Given the description of an element on the screen output the (x, y) to click on. 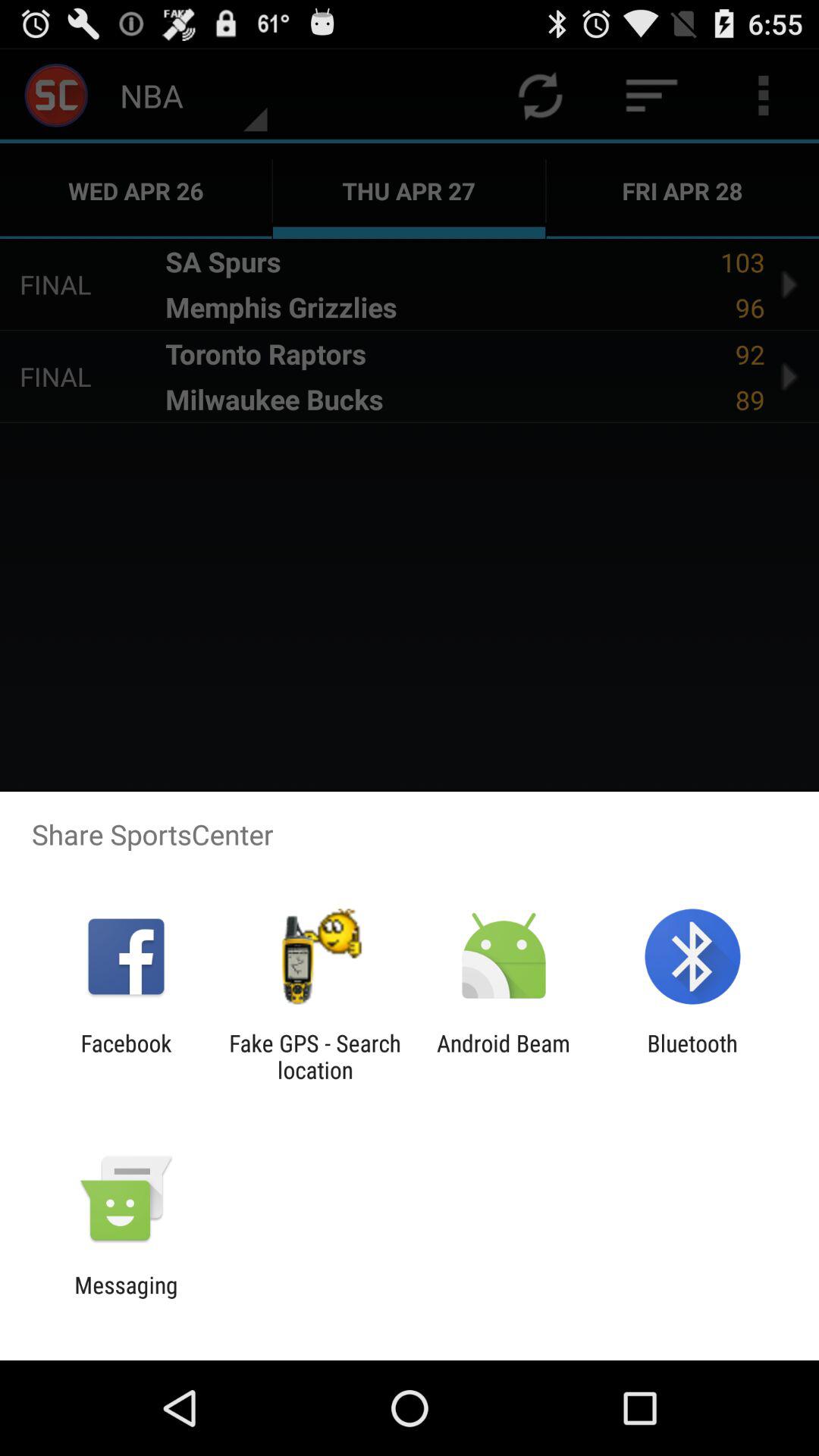
press messaging item (126, 1298)
